Given the description of an element on the screen output the (x, y) to click on. 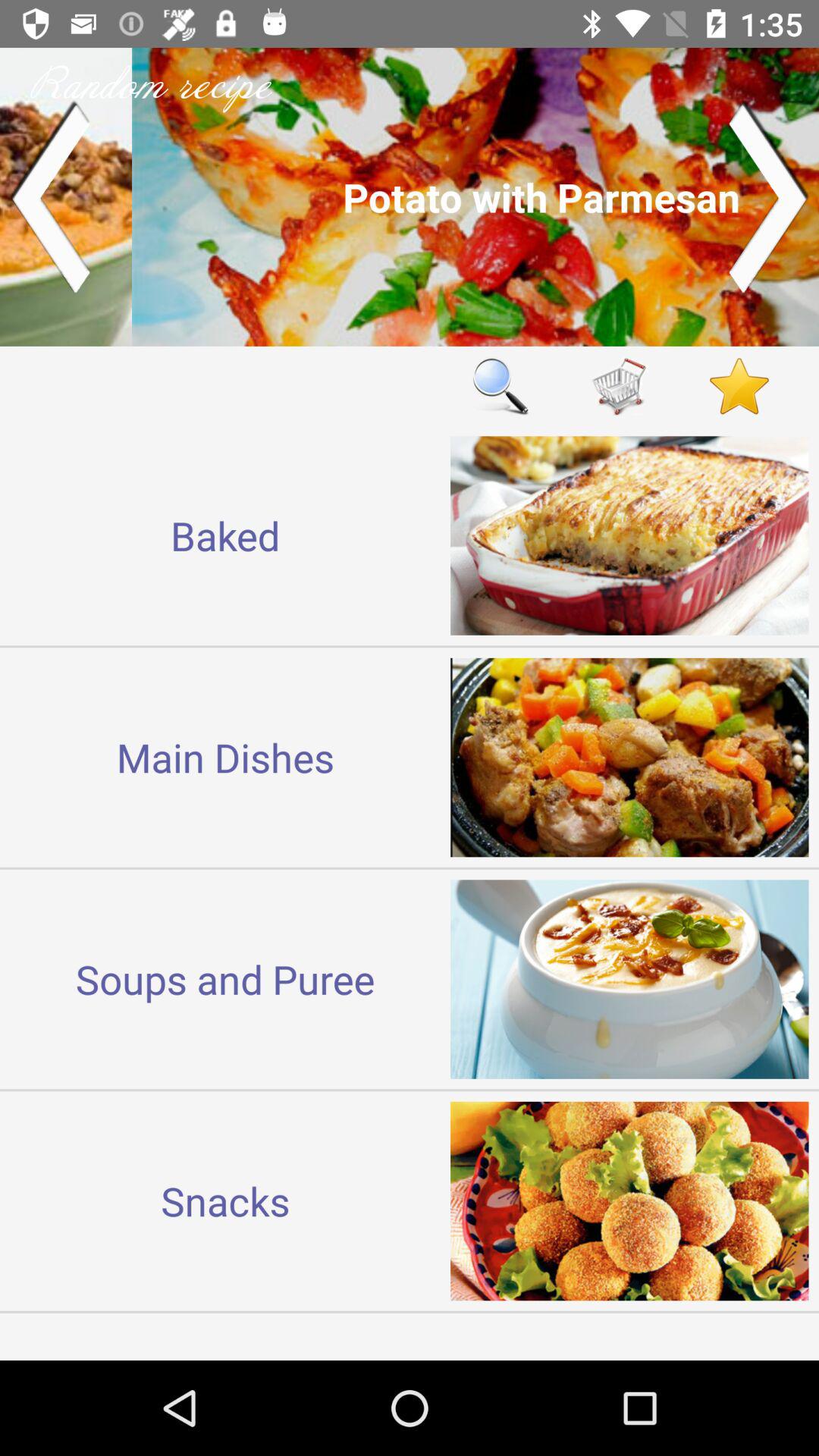
go forward (769, 196)
